Given the description of an element on the screen output the (x, y) to click on. 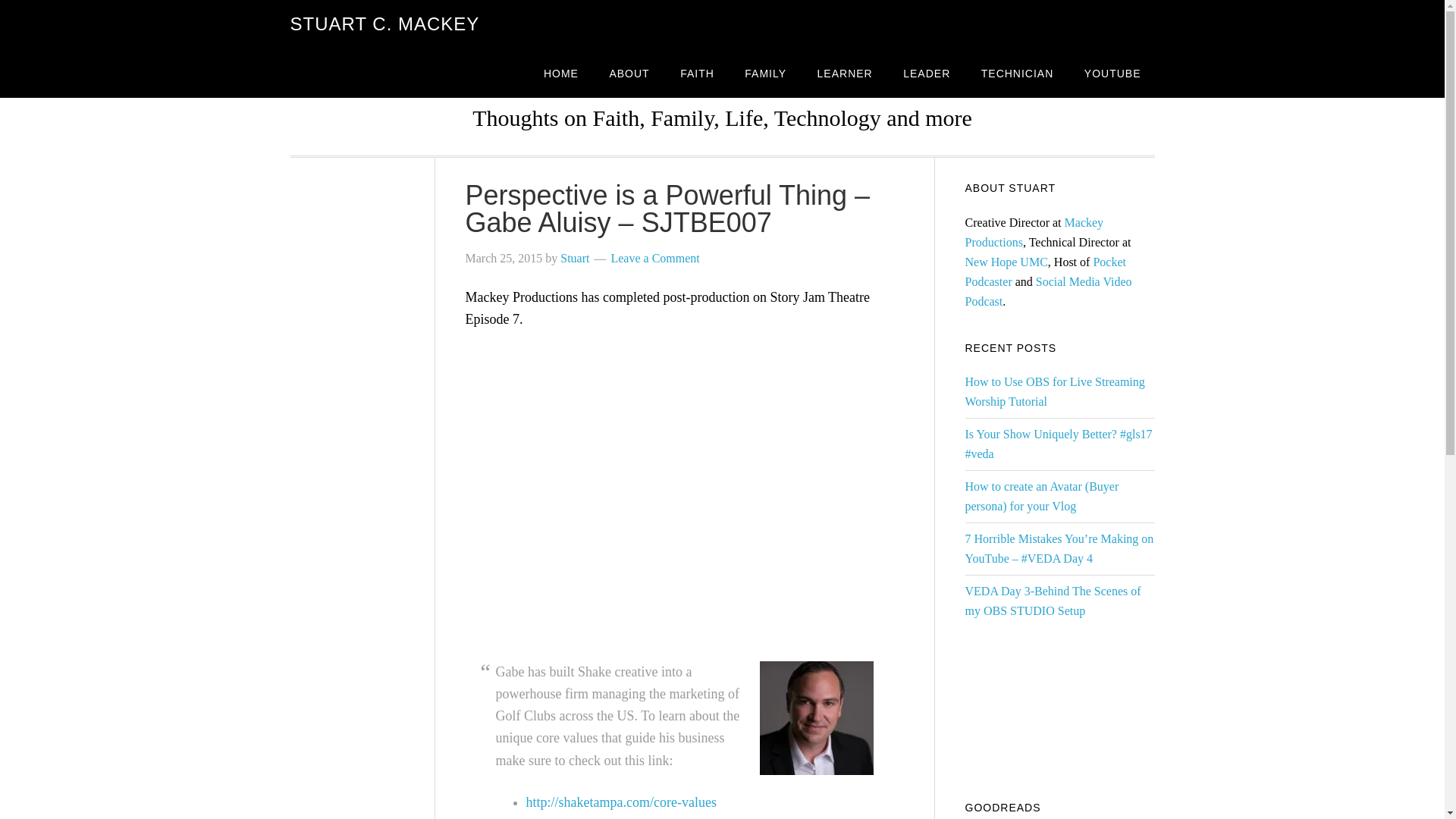
FAMILY (764, 72)
Social Media Video Podcast (1047, 291)
YOUTUBE (1112, 72)
FAITH (697, 72)
LEADER (926, 72)
ABOUT (628, 72)
Pocket Podcaster (1044, 271)
TECHNICIAN (1017, 72)
LEARNER (844, 72)
New Hope UMC (1004, 261)
